Given the description of an element on the screen output the (x, y) to click on. 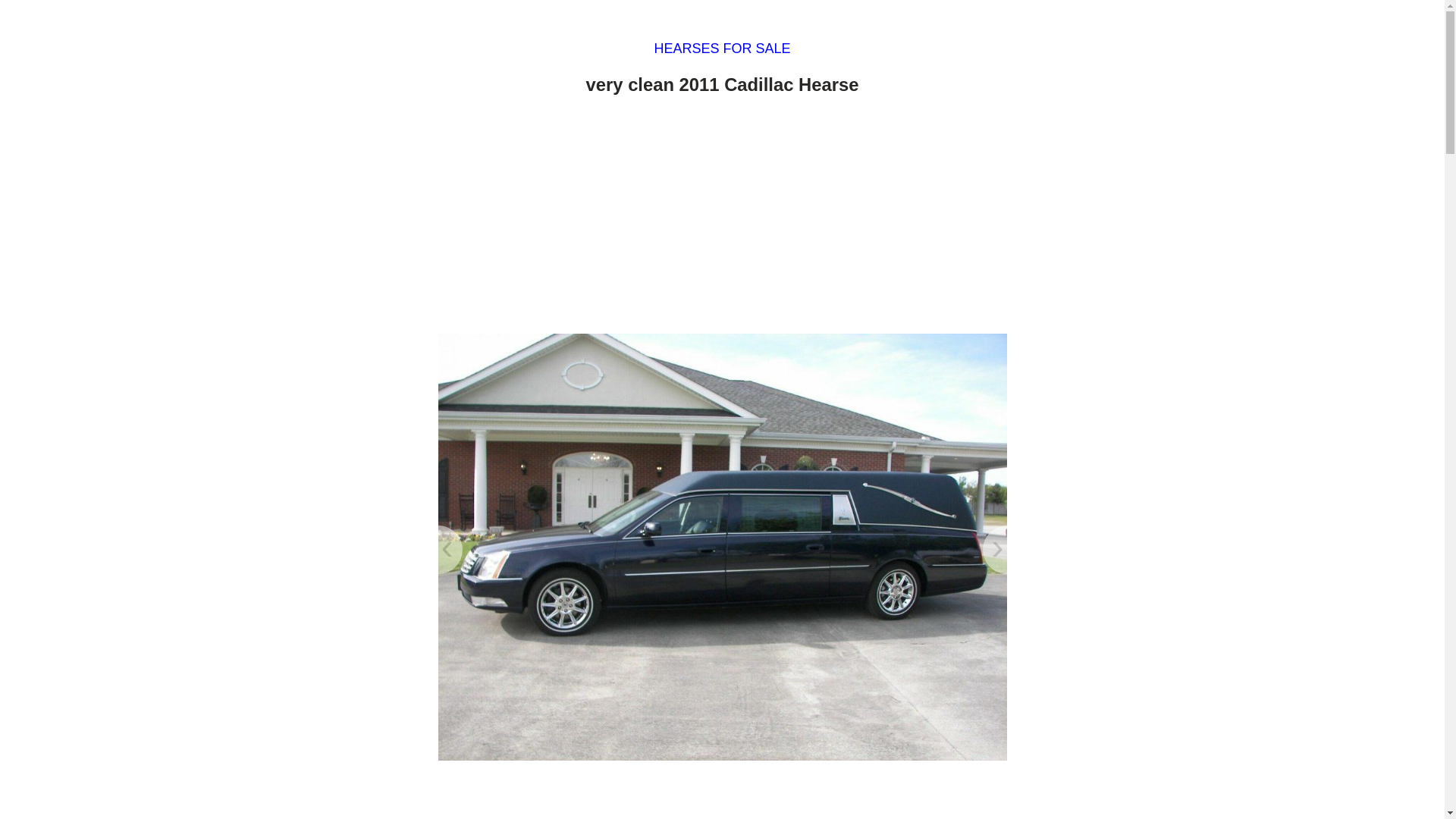
Advertisement (722, 218)
HEARSES FOR SALE (721, 48)
Advertisement (722, 796)
